Given the description of an element on the screen output the (x, y) to click on. 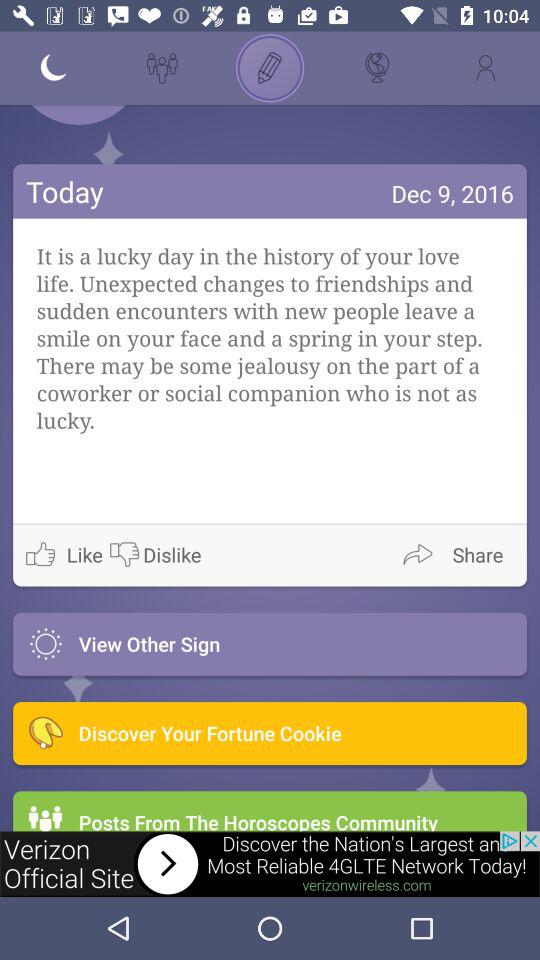
icon page (269, 68)
